Given the description of an element on the screen output the (x, y) to click on. 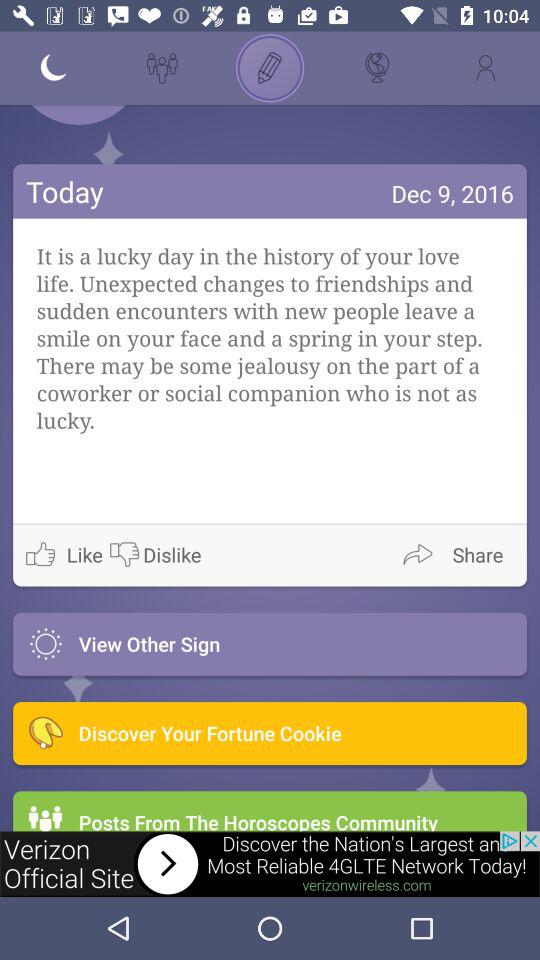
icon page (269, 68)
